Given the description of an element on the screen output the (x, y) to click on. 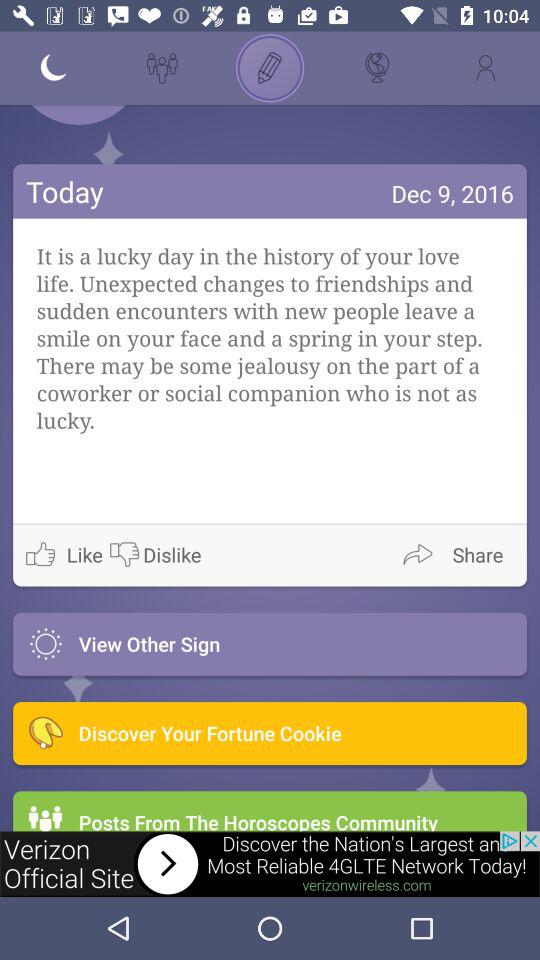
icon page (269, 68)
